Given the description of an element on the screen output the (x, y) to click on. 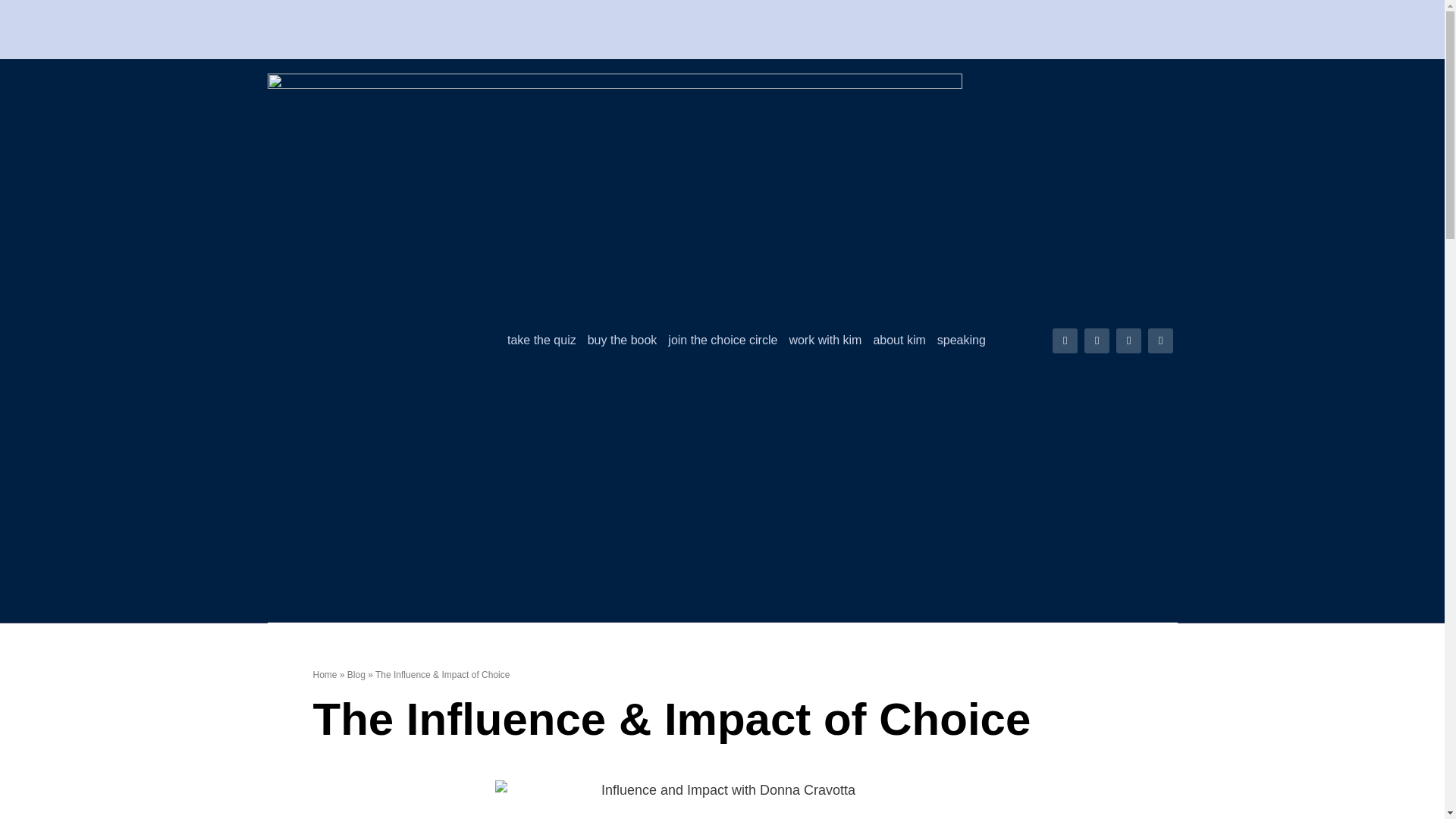
speaking (961, 340)
Book (623, 340)
work with kim (825, 340)
Blog (356, 674)
about kim (898, 340)
buy the book (623, 340)
Home (324, 674)
join the choice circle (722, 340)
Work with Kim (825, 340)
take the quiz (541, 340)
